Given the description of an element on the screen output the (x, y) to click on. 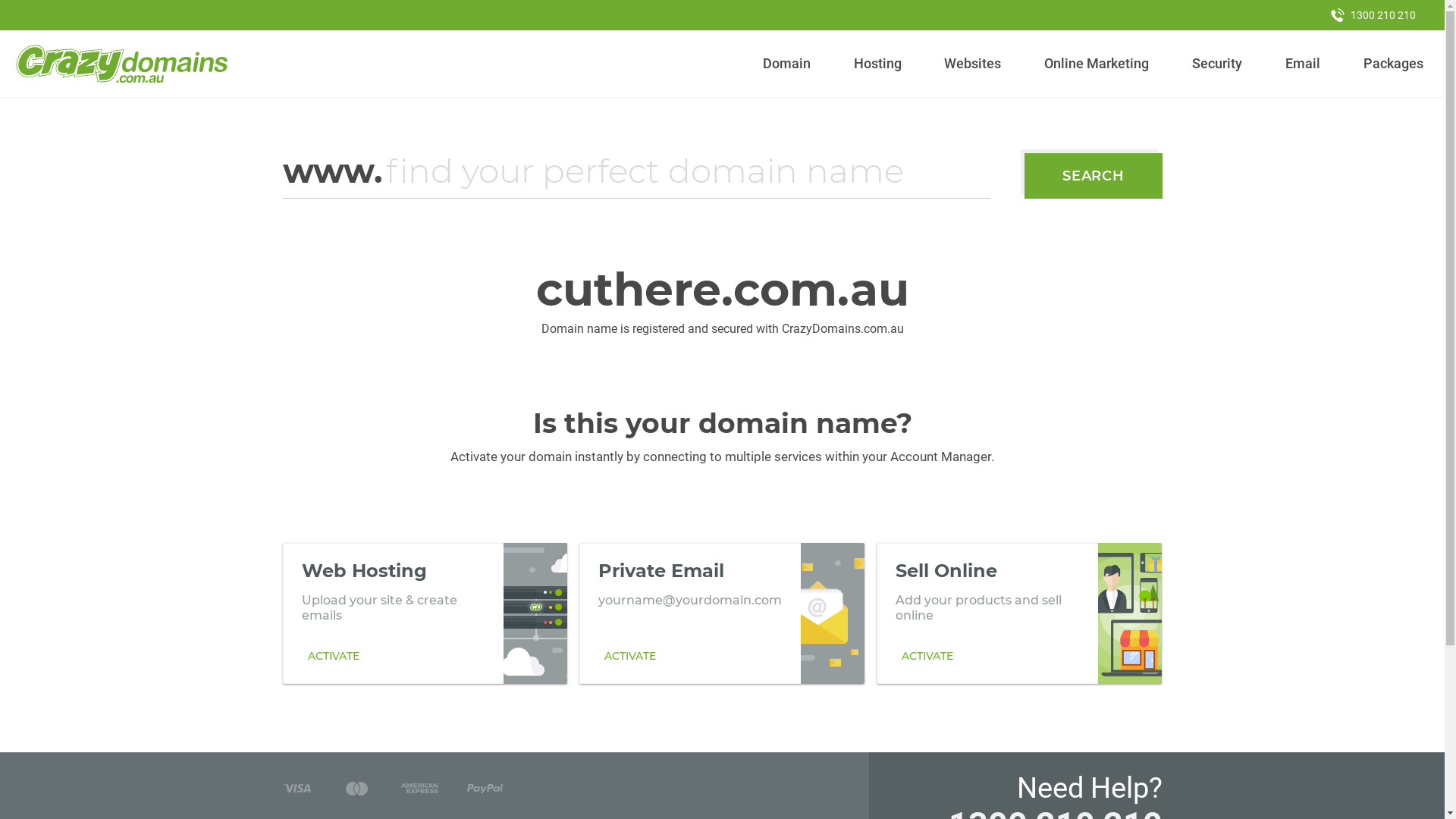
Hosting Element type: text (877, 63)
Security Element type: text (1217, 63)
SEARCH Element type: text (1092, 175)
Packages Element type: text (1392, 63)
Online Marketing Element type: text (1096, 63)
Websites Element type: text (972, 63)
1300 210 210 Element type: text (1373, 15)
Private Email
yourname@yourdomain.com
ACTIVATE Element type: text (721, 613)
Sell Online
Add your products and sell online
ACTIVATE Element type: text (1018, 613)
Email Element type: text (1302, 63)
Web Hosting
Upload your site & create emails
ACTIVATE Element type: text (424, 613)
Domain Element type: text (786, 63)
